Given the description of an element on the screen output the (x, y) to click on. 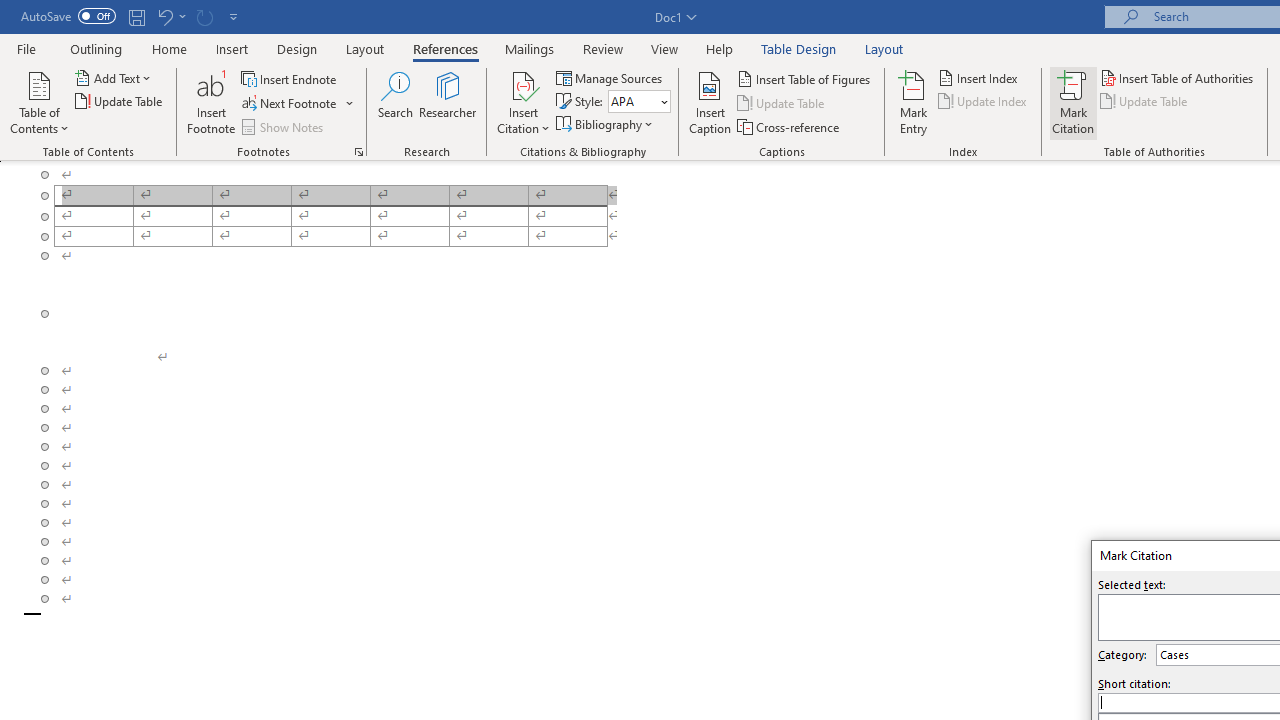
Update Table (1145, 101)
Undo Outline Move Up (170, 15)
Style (632, 101)
Footnote and Endnote Dialog... (358, 151)
Manage Sources... (610, 78)
Insert Endnote (290, 78)
Undo Outline Move Up (164, 15)
Can't Repeat (204, 15)
